Given the description of an element on the screen output the (x, y) to click on. 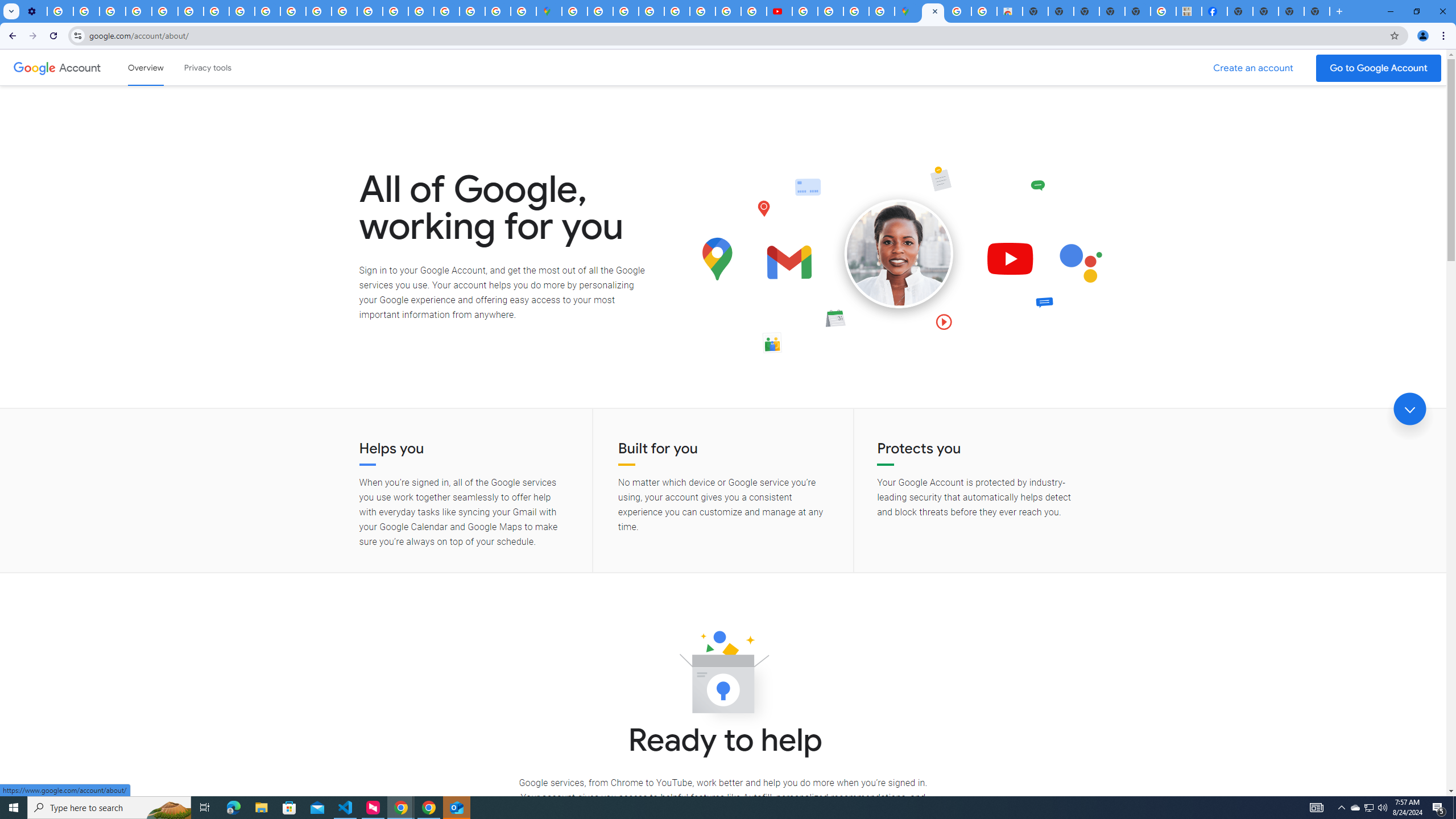
Skip to Content (162, 65)
Jump link (1409, 408)
Privacy Help Center - Policies Help (344, 11)
Sign in - Google Accounts (446, 11)
MILEY CYRUS. (1188, 11)
Miley Cyrus | Facebook (1213, 11)
Delete photos & videos - Computer - Google Photos Help (60, 11)
